Given the description of an element on the screen output the (x, y) to click on. 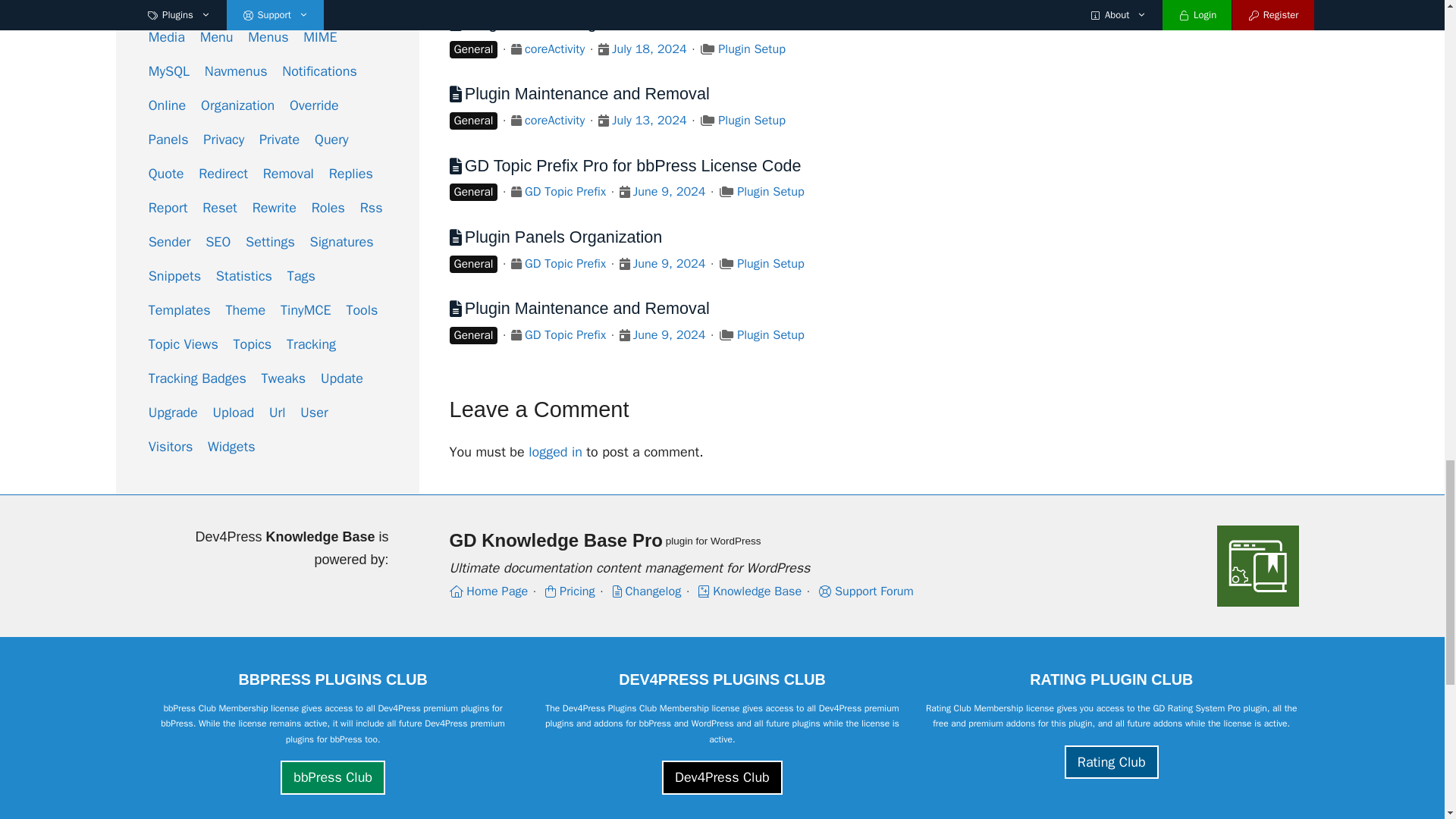
Category (707, 49)
Posted on (603, 49)
Product (516, 49)
